Given the description of an element on the screen output the (x, y) to click on. 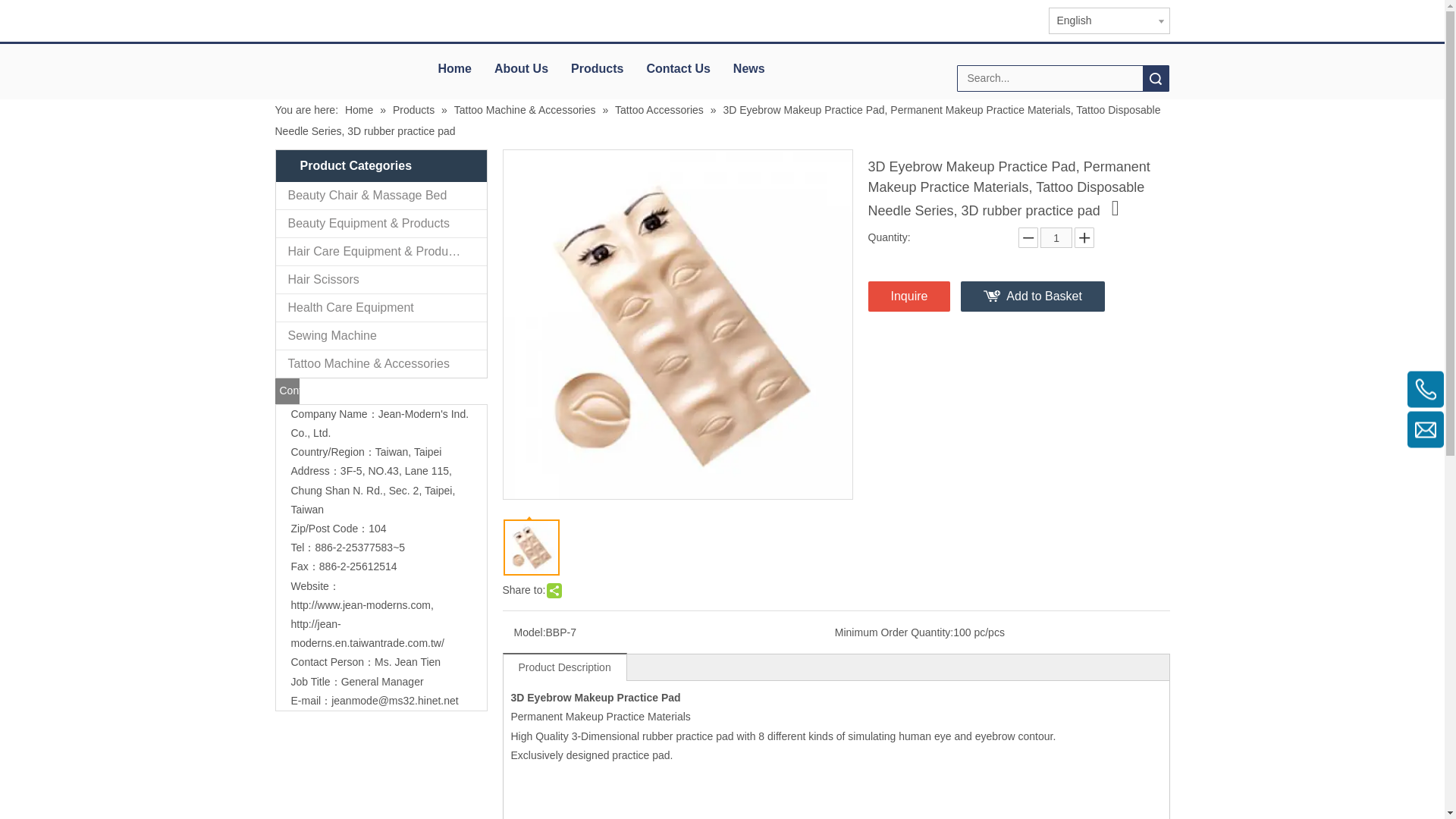
Contact Us (677, 69)
Products (596, 69)
Home (360, 110)
Home (453, 69)
Tattoo Accessories (660, 110)
News (749, 69)
About Us (521, 69)
Search (1155, 78)
Products (415, 110)
1 (1056, 237)
